Given the description of an element on the screen output the (x, y) to click on. 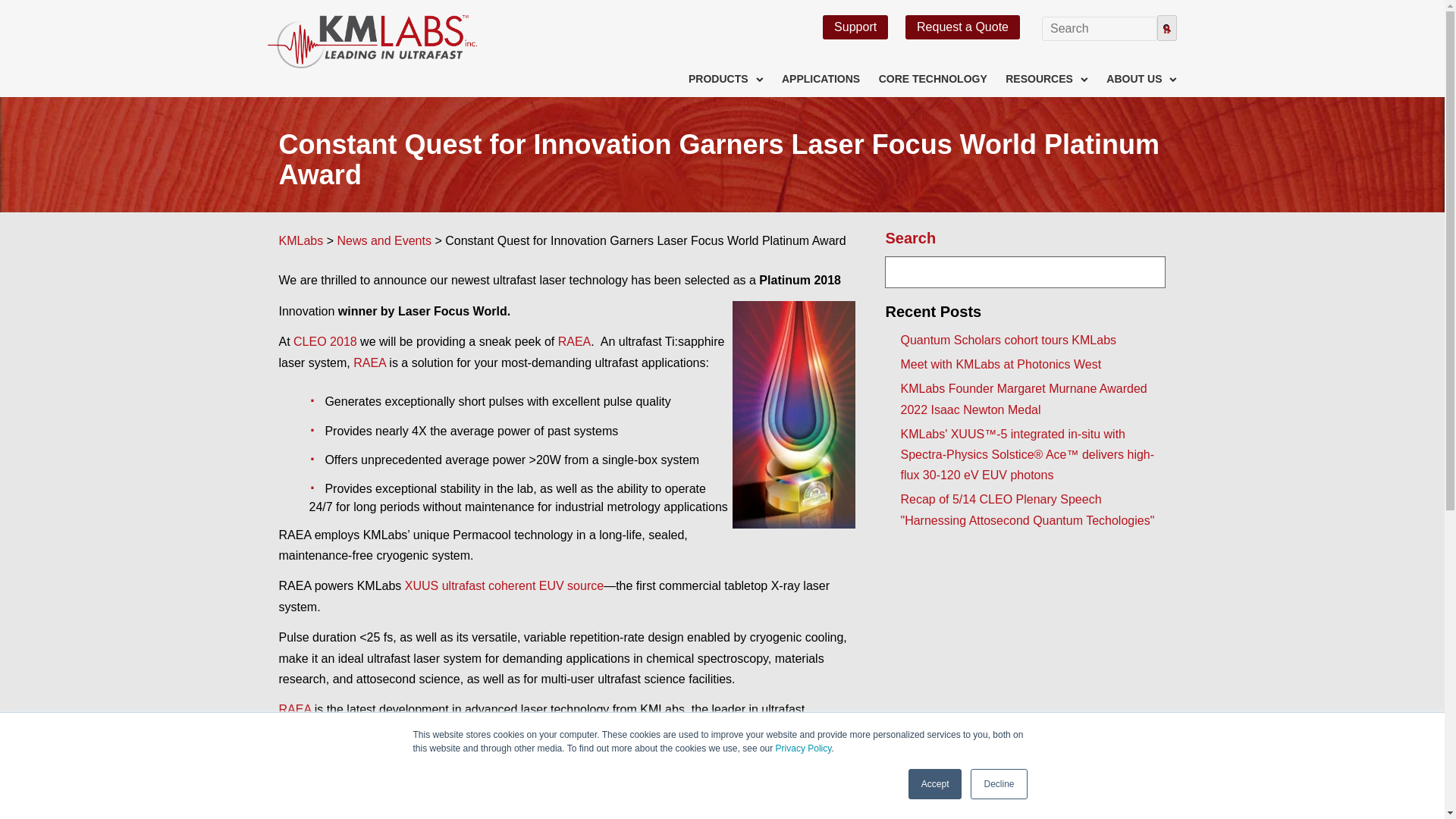
Support (855, 27)
Support (855, 27)
Request a Quote (962, 27)
Accept (935, 784)
Decline (998, 784)
KMLabs - Leading in Ultrafast (371, 41)
Privacy Policy (803, 747)
Request a Quote (962, 27)
